Given the description of an element on the screen output the (x, y) to click on. 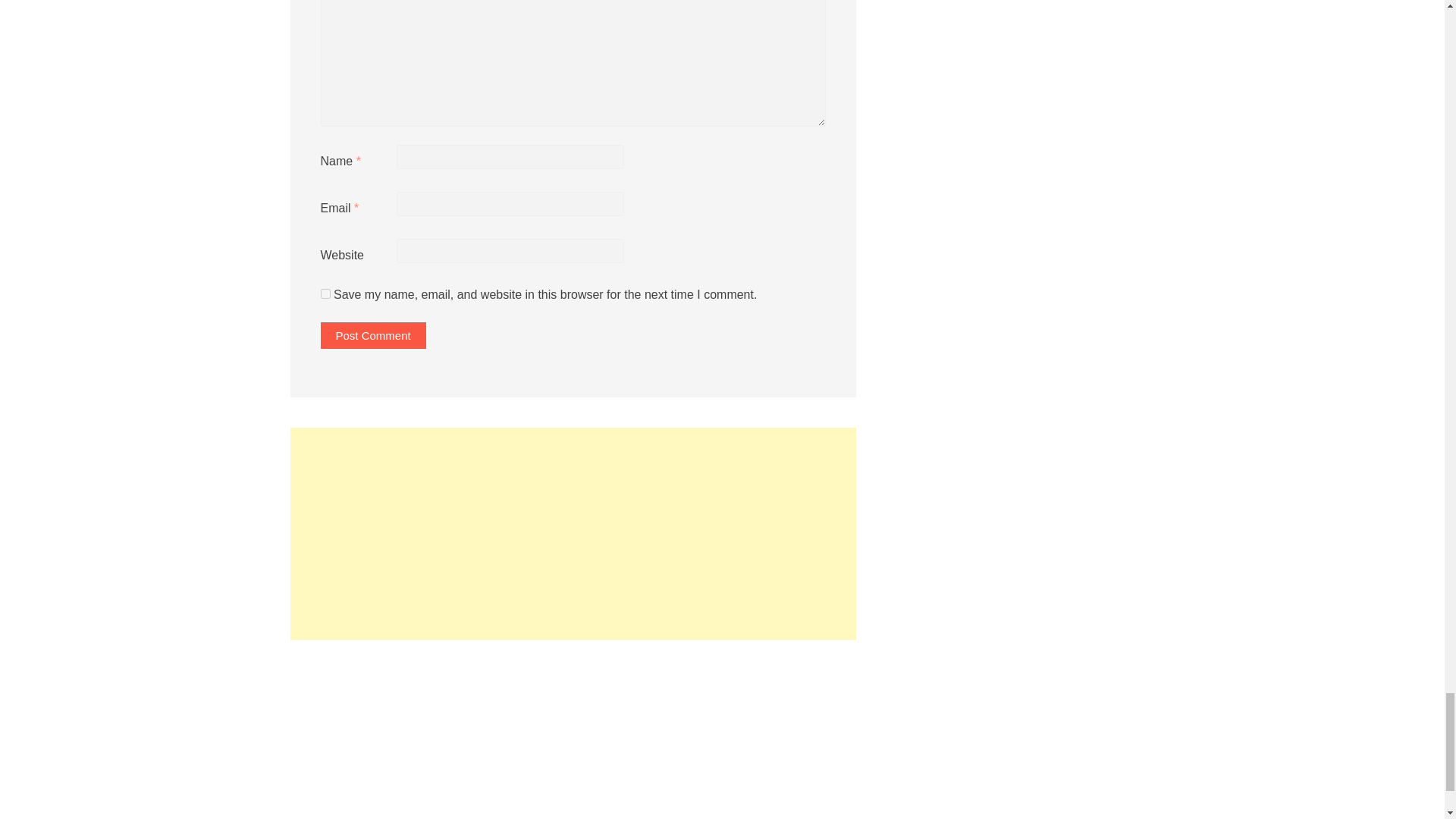
yes (325, 293)
Post Comment (372, 335)
Post Comment (372, 335)
